Given the description of an element on the screen output the (x, y) to click on. 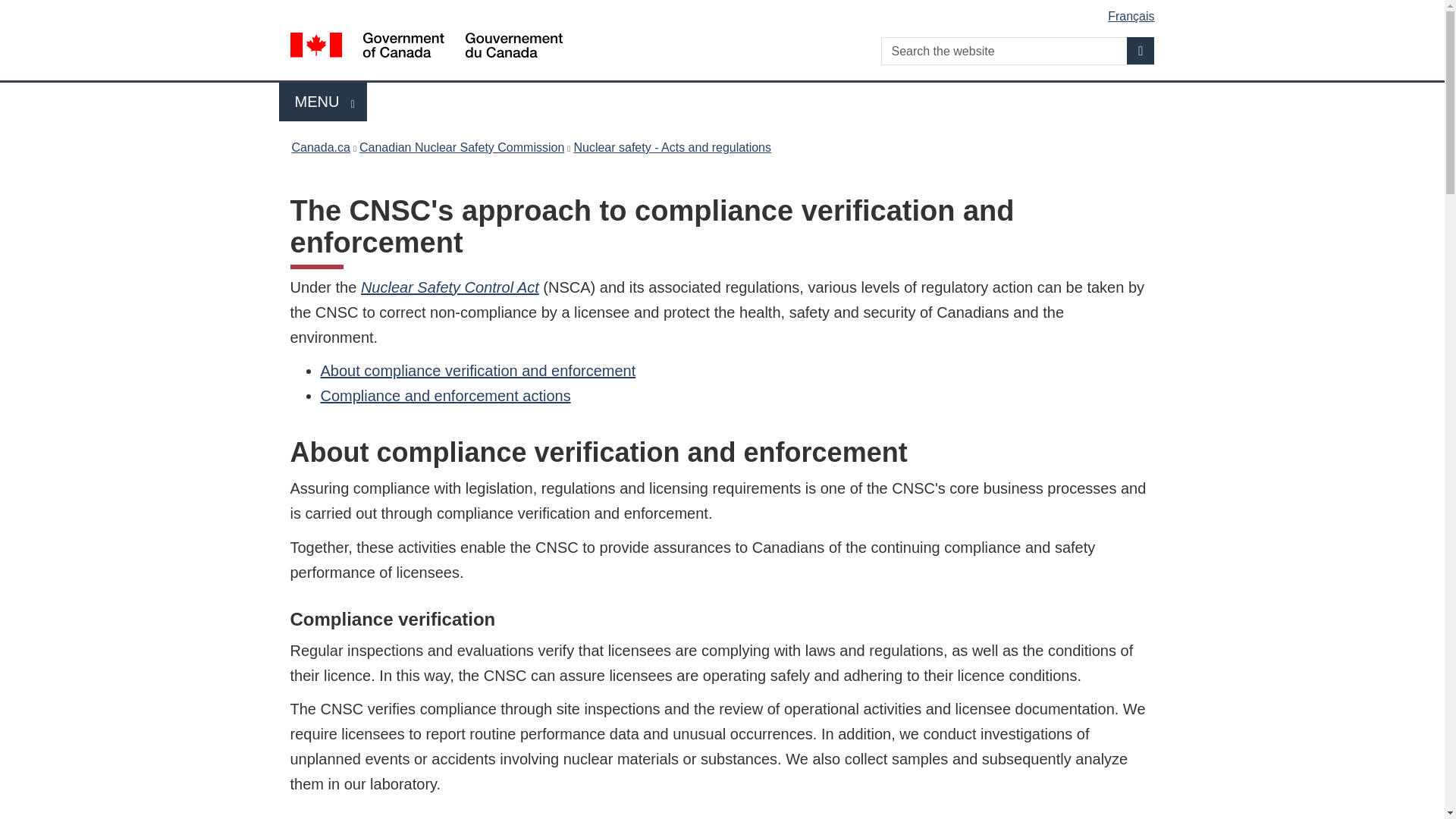
Canada.ca (322, 101)
Compliance and enforcement actions (320, 147)
Skip to main content (445, 395)
Nuclear safety - Acts and regulations (725, 11)
Search (672, 147)
Canadian Nuclear Safety Commission (1140, 50)
Nuclear Safety Control Act (461, 147)
About compliance verification and enforcement (449, 287)
